Given the description of an element on the screen output the (x, y) to click on. 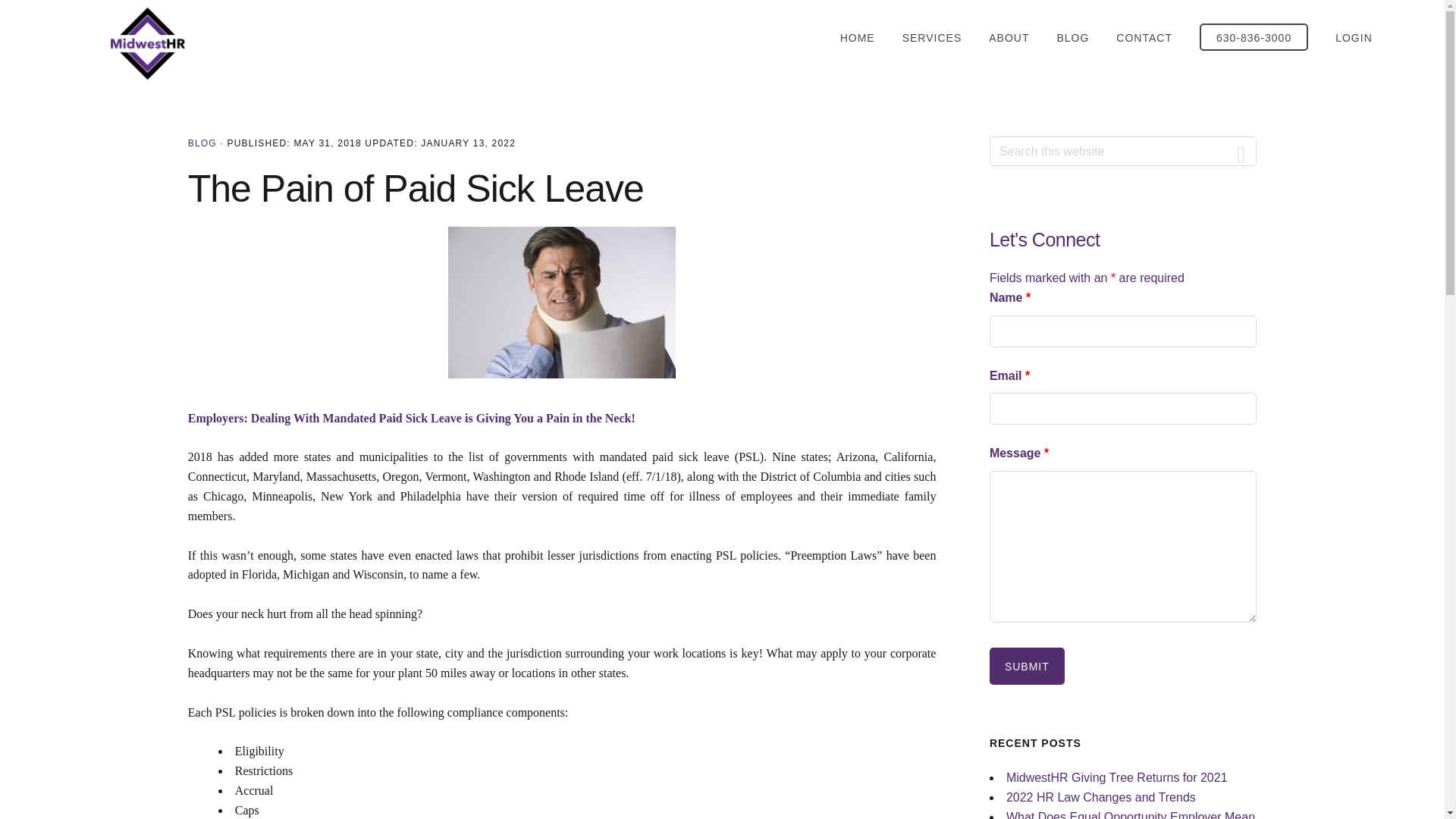
BLOG (201, 143)
SERVICES (932, 37)
Search (1240, 151)
2022 HR Law Changes and Trends (1100, 797)
630-836-3000 (1253, 36)
Submit (1027, 665)
Search (1240, 151)
Submit (1027, 665)
Search (1240, 151)
MidwestHR (147, 43)
MidwestHR Giving Tree Returns for 2021 (1116, 777)
